Given the description of an element on the screen output the (x, y) to click on. 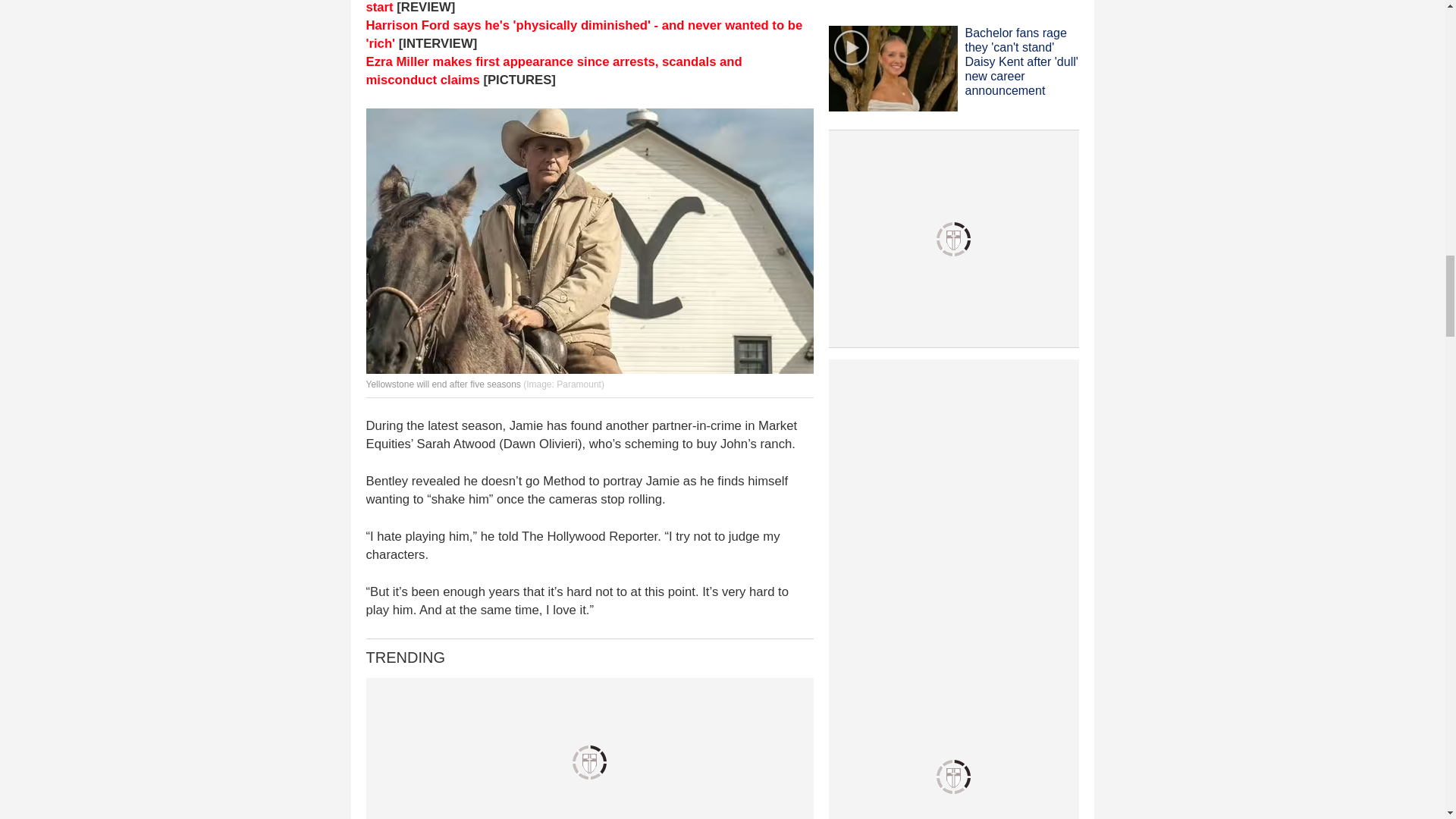
Kevin Costner as John Dutton (588, 240)
